Given the description of an element on the screen output the (x, y) to click on. 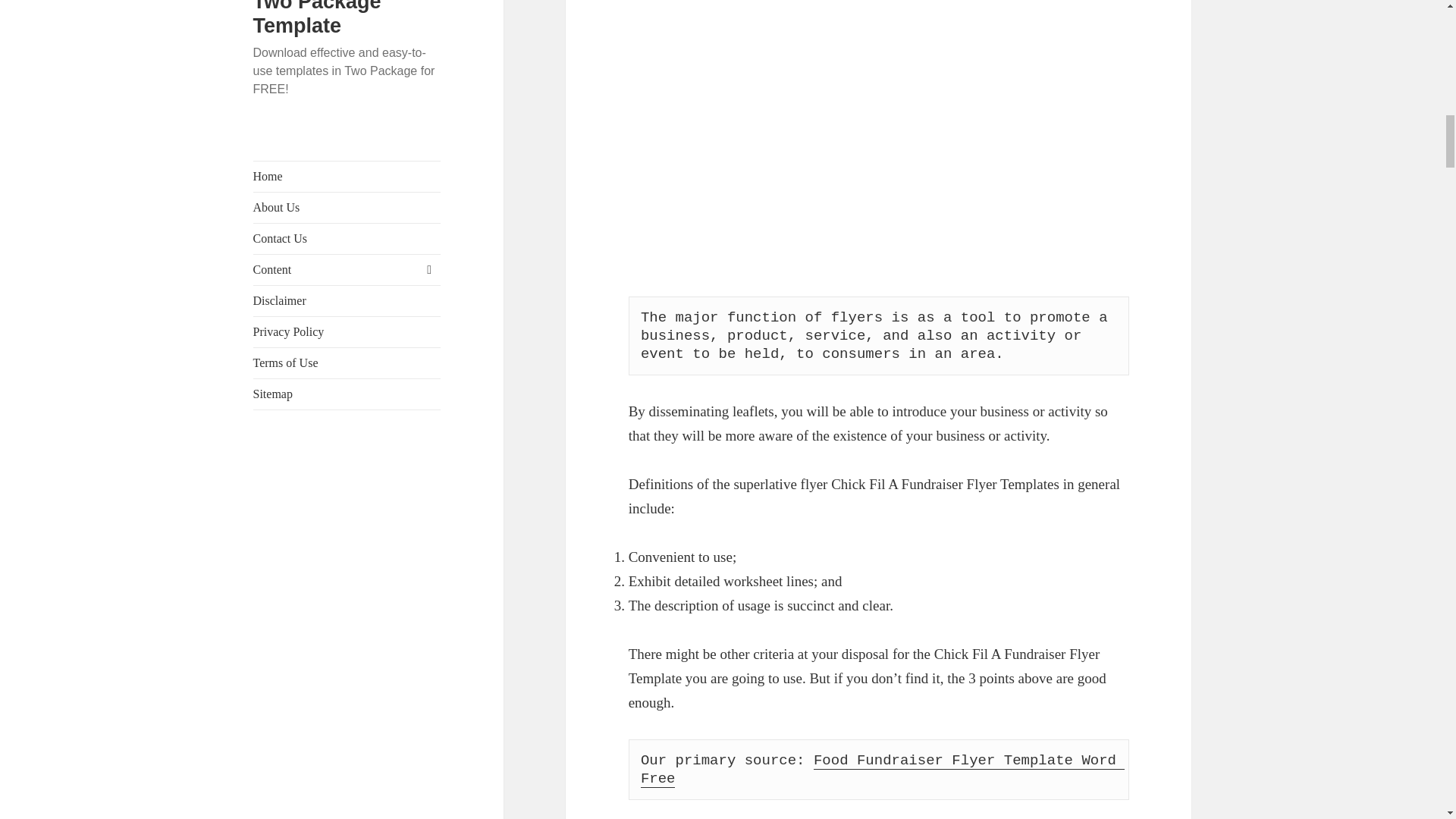
Food Fundraiser Flyer Template Word Free (882, 769)
